Given the description of an element on the screen output the (x, y) to click on. 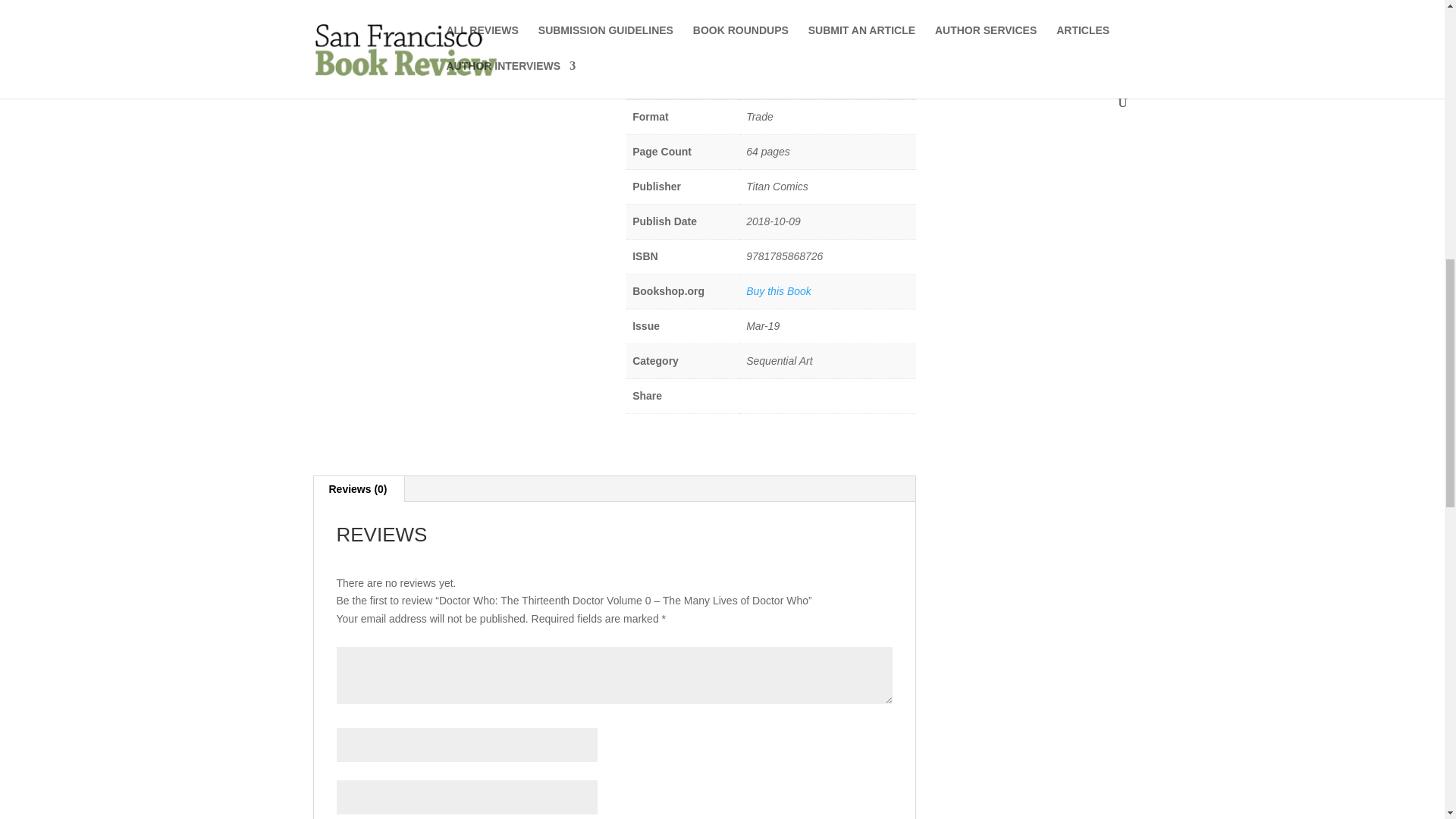
Buy this Book (777, 291)
Sean West (719, 4)
